Given the description of an element on the screen output the (x, y) to click on. 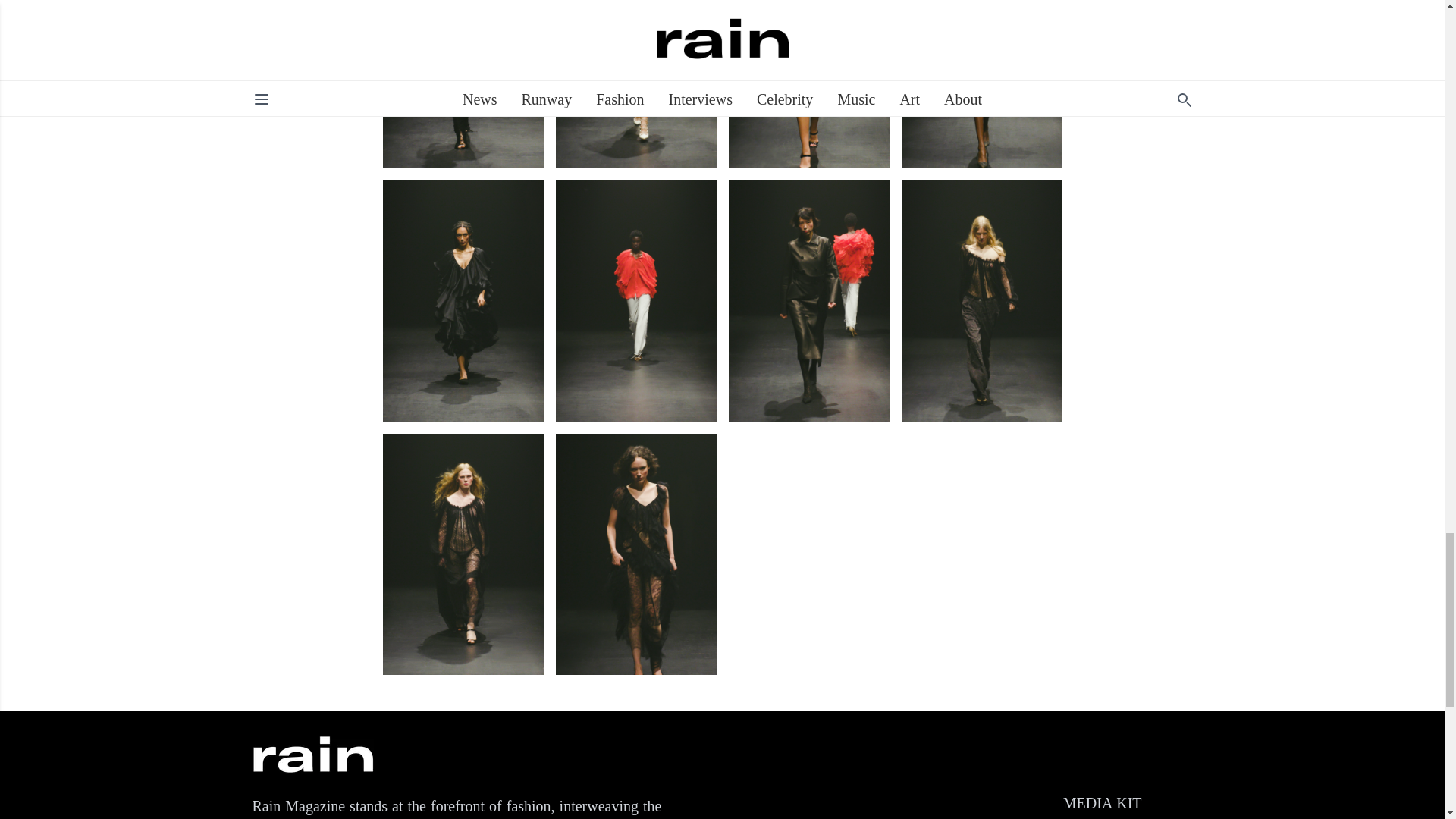
MEDIA KIT (1101, 802)
